Given the description of an element on the screen output the (x, y) to click on. 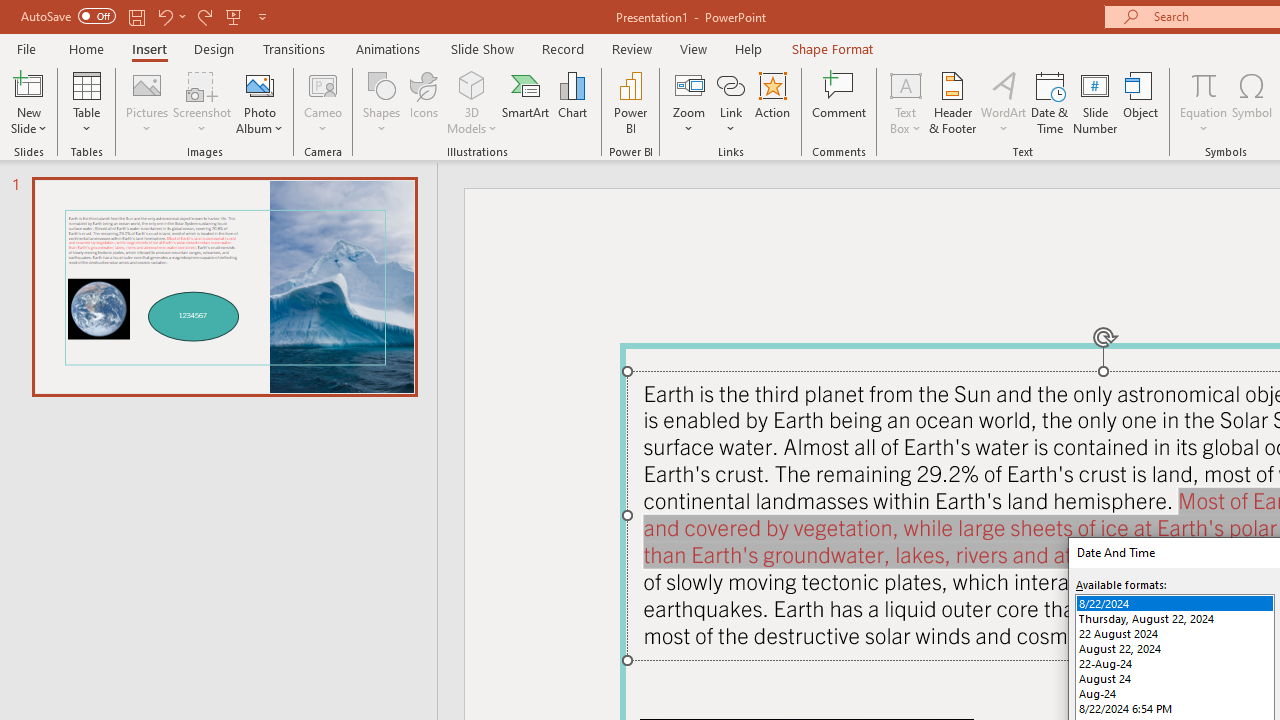
Aug-24 (1174, 693)
Action (772, 102)
Power BI (630, 102)
Date & Time... (1050, 102)
22 August 2024 (1174, 632)
Chart... (572, 102)
Header & Footer... (952, 102)
